Given the description of an element on the screen output the (x, y) to click on. 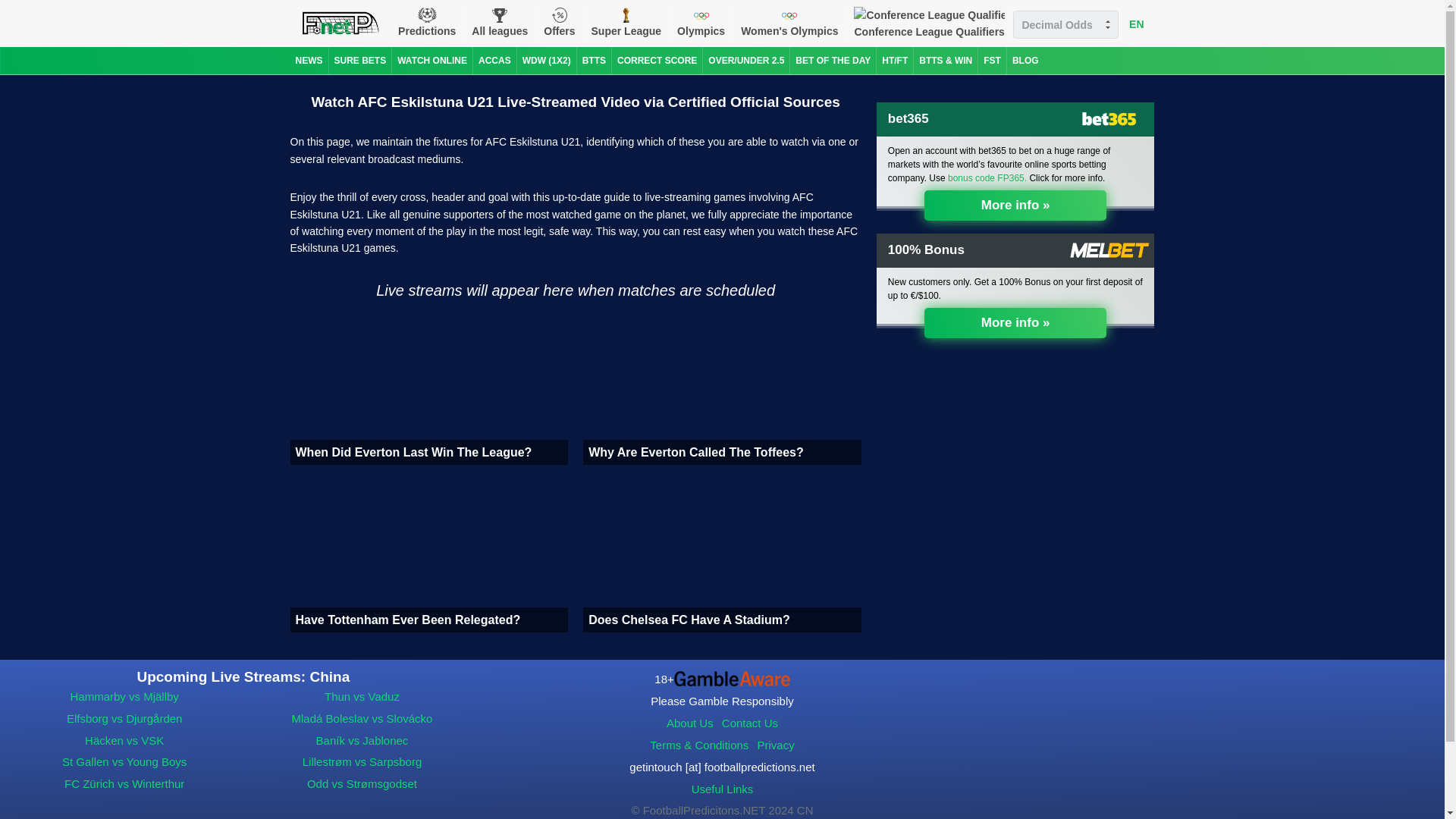
SURE BETS (360, 60)
Conference League Qualifiers (928, 22)
ACCAS (494, 60)
Super League (626, 22)
FST (992, 60)
Predictions (426, 22)
Offers (558, 22)
Women's Olympics (789, 22)
BLOG (1025, 60)
Why Are Everton Called The Toffees? (722, 388)
BET OF THE DAY (833, 60)
BTTS (593, 60)
EN (1135, 24)
Have Tottenham Ever Been Relegated? (428, 556)
All leagues (499, 22)
